Given the description of an element on the screen output the (x, y) to click on. 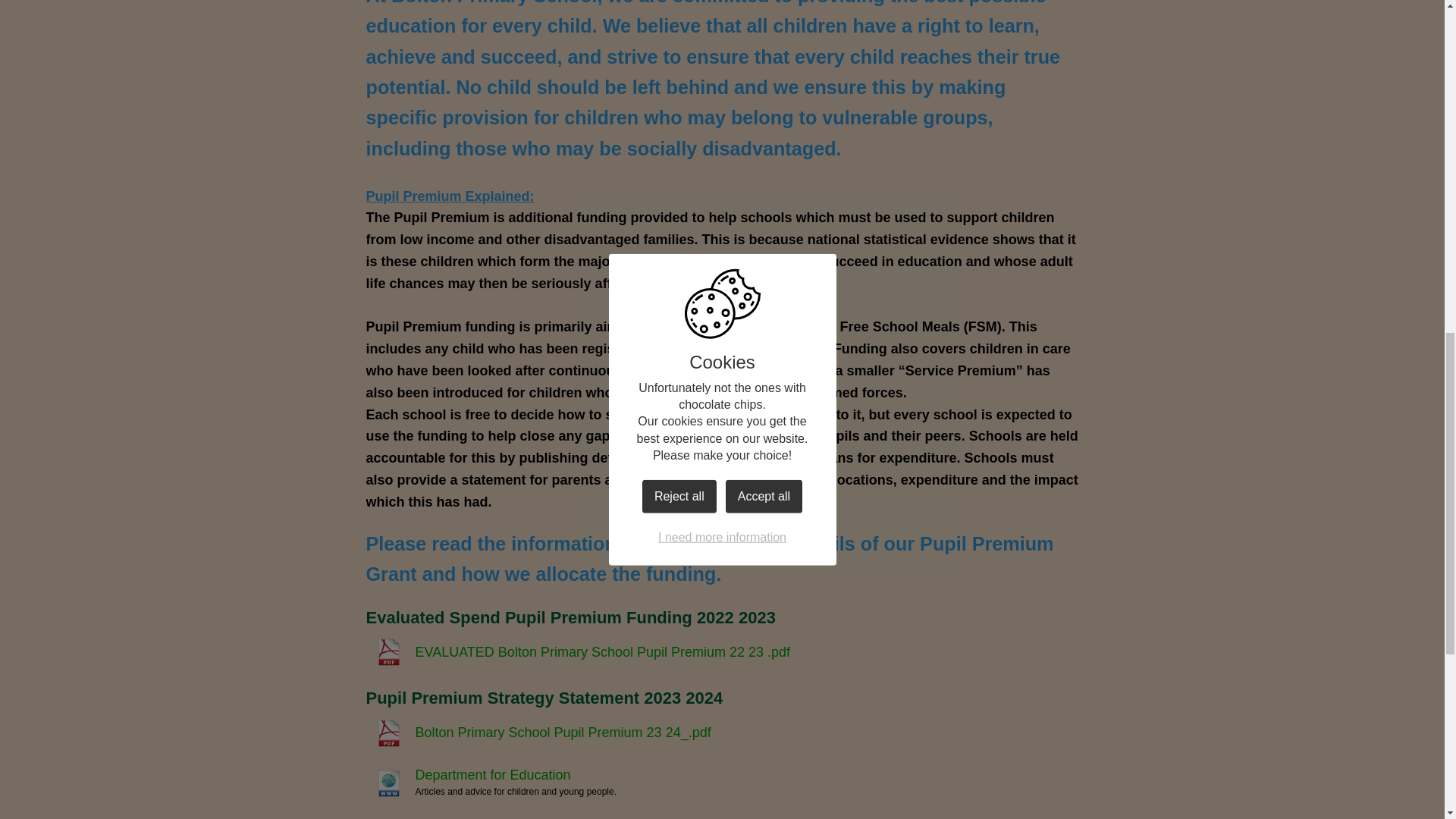
EVALUATED Bolton Primary School Pupil Premium 22 23 .pdf (577, 651)
Department for Education (467, 774)
